Given the description of an element on the screen output the (x, y) to click on. 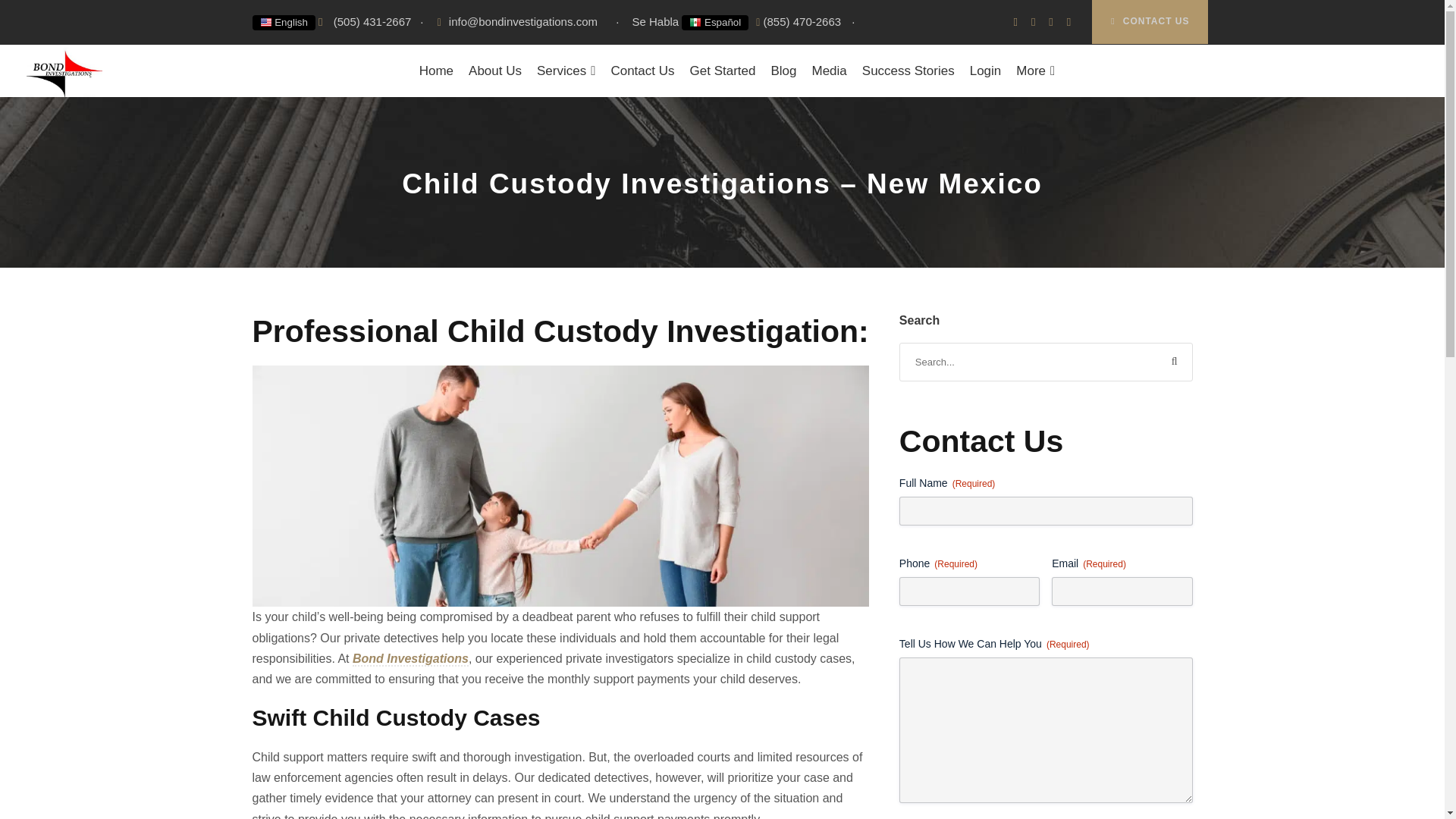
Logo-small (63, 69)
Home (436, 71)
English (282, 22)
English (283, 21)
CONTACT US (1149, 22)
